Given the description of an element on the screen output the (x, y) to click on. 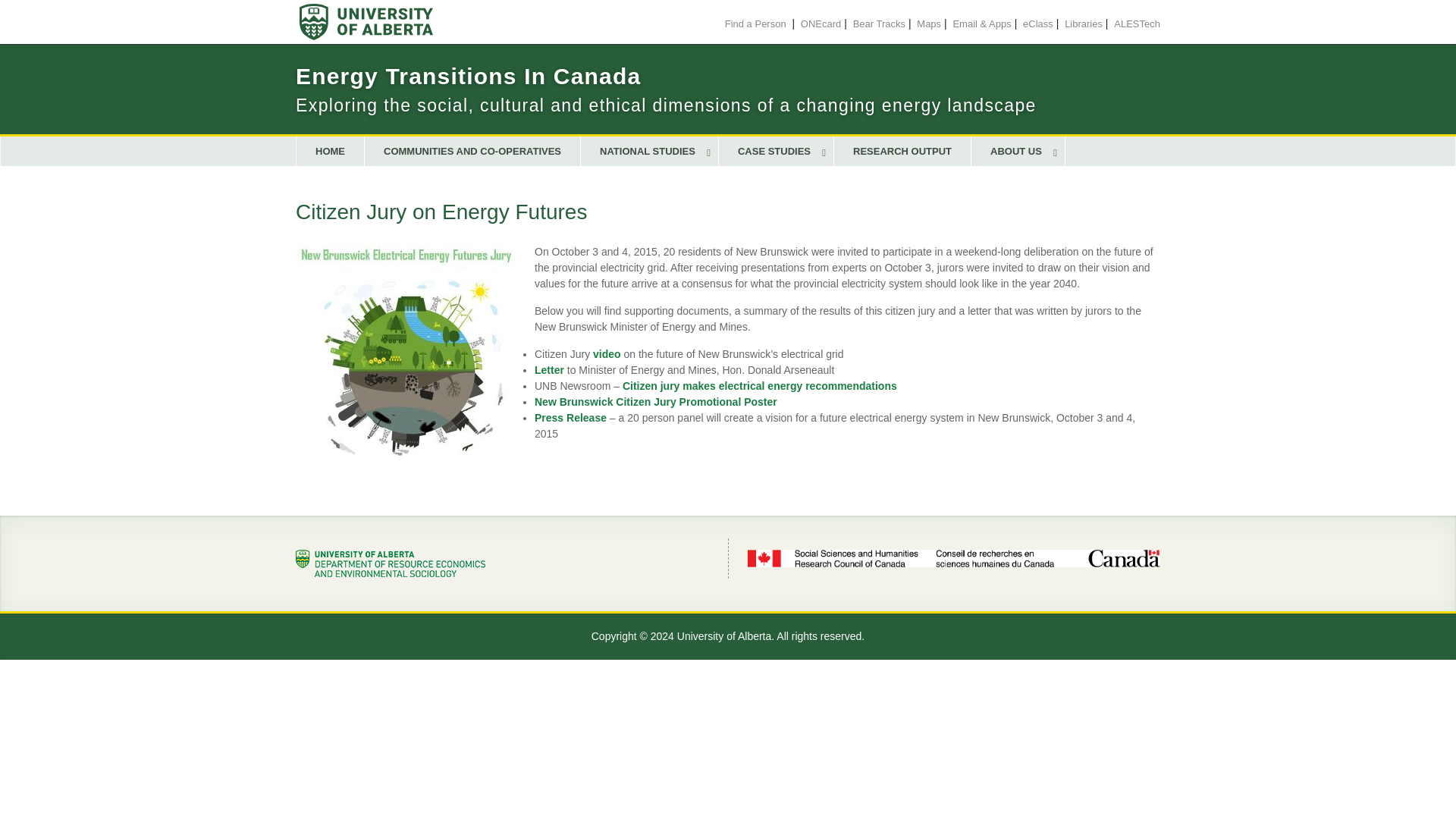
ALESTech (1136, 23)
Find a Person (755, 23)
Bear Tracks (879, 23)
Citizen jury makes electrical energy recommendations (759, 386)
ONEcard (820, 23)
HOME (330, 151)
New Brunswick Citizen Jury Promotional Poster (655, 401)
COMMUNITIES AND CO-OPERATIVES (472, 151)
Energy Transitions In Canada (467, 75)
eClass (1037, 23)
